Given the description of an element on the screen output the (x, y) to click on. 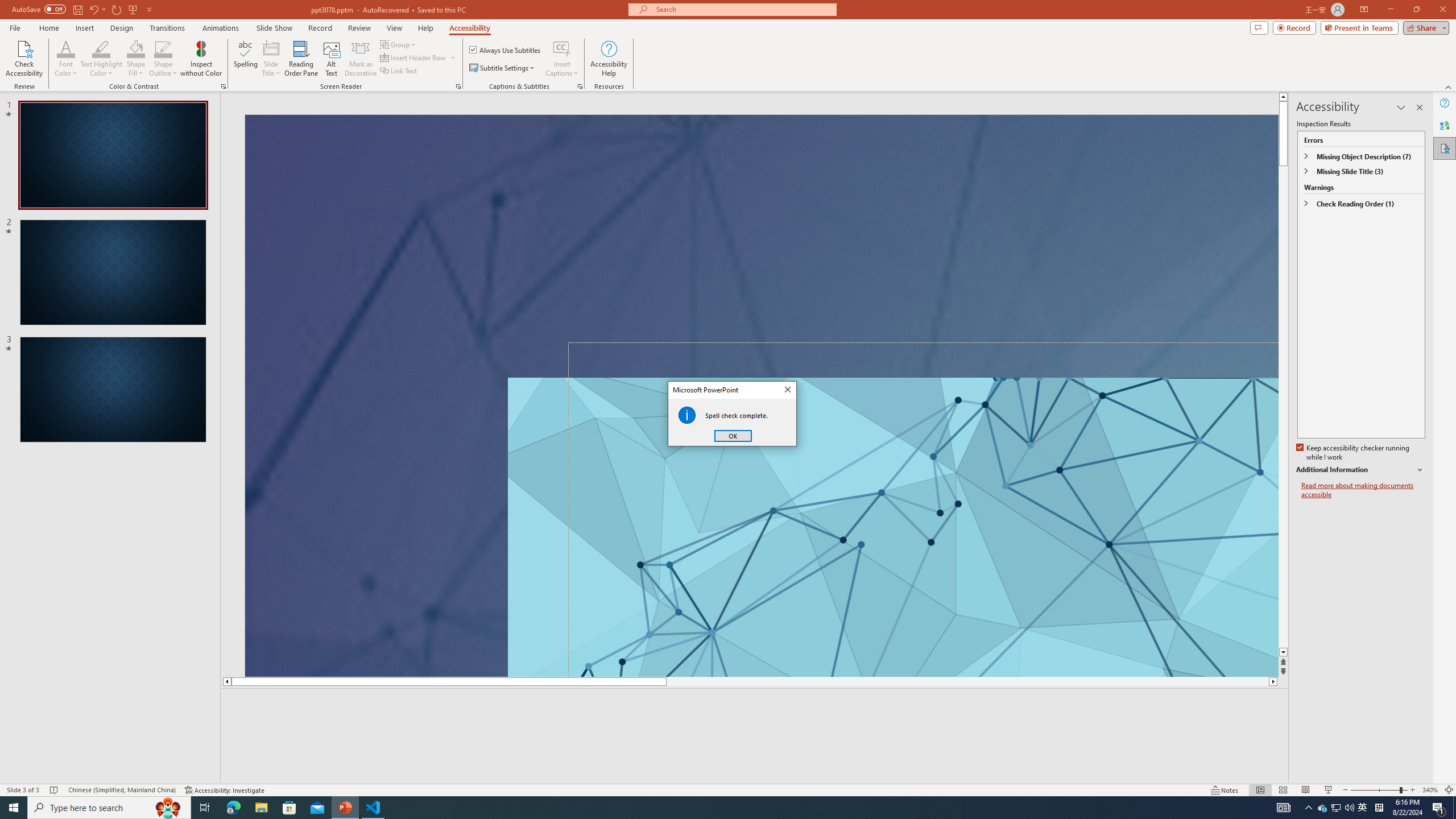
Insert Captions (561, 58)
Action Center, 1 new notification (1439, 807)
Inspect without Color (201, 58)
